Given the description of an element on the screen output the (x, y) to click on. 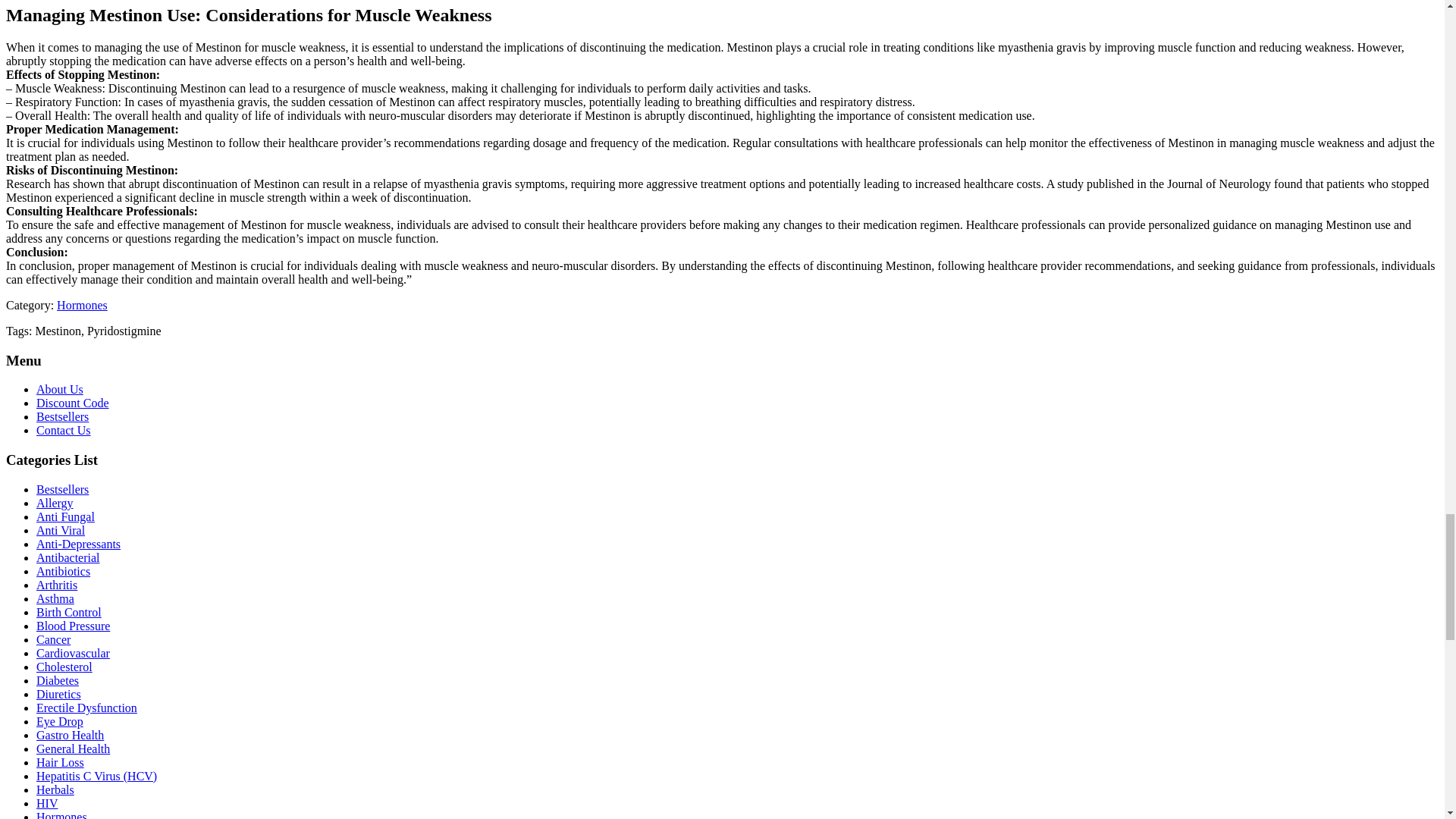
Anti-Depressants (78, 543)
About Us (59, 389)
Diuretics (58, 694)
Bestsellers (62, 416)
Antibiotics (63, 571)
Arthritis (56, 584)
Anti Fungal (65, 516)
Eye Drop (59, 721)
Gastro Health (69, 735)
Allergy (55, 502)
Asthma (55, 598)
Hormones (81, 305)
Hair Loss (60, 762)
Cancer (52, 639)
Birth Control (68, 612)
